Given the description of an element on the screen output the (x, y) to click on. 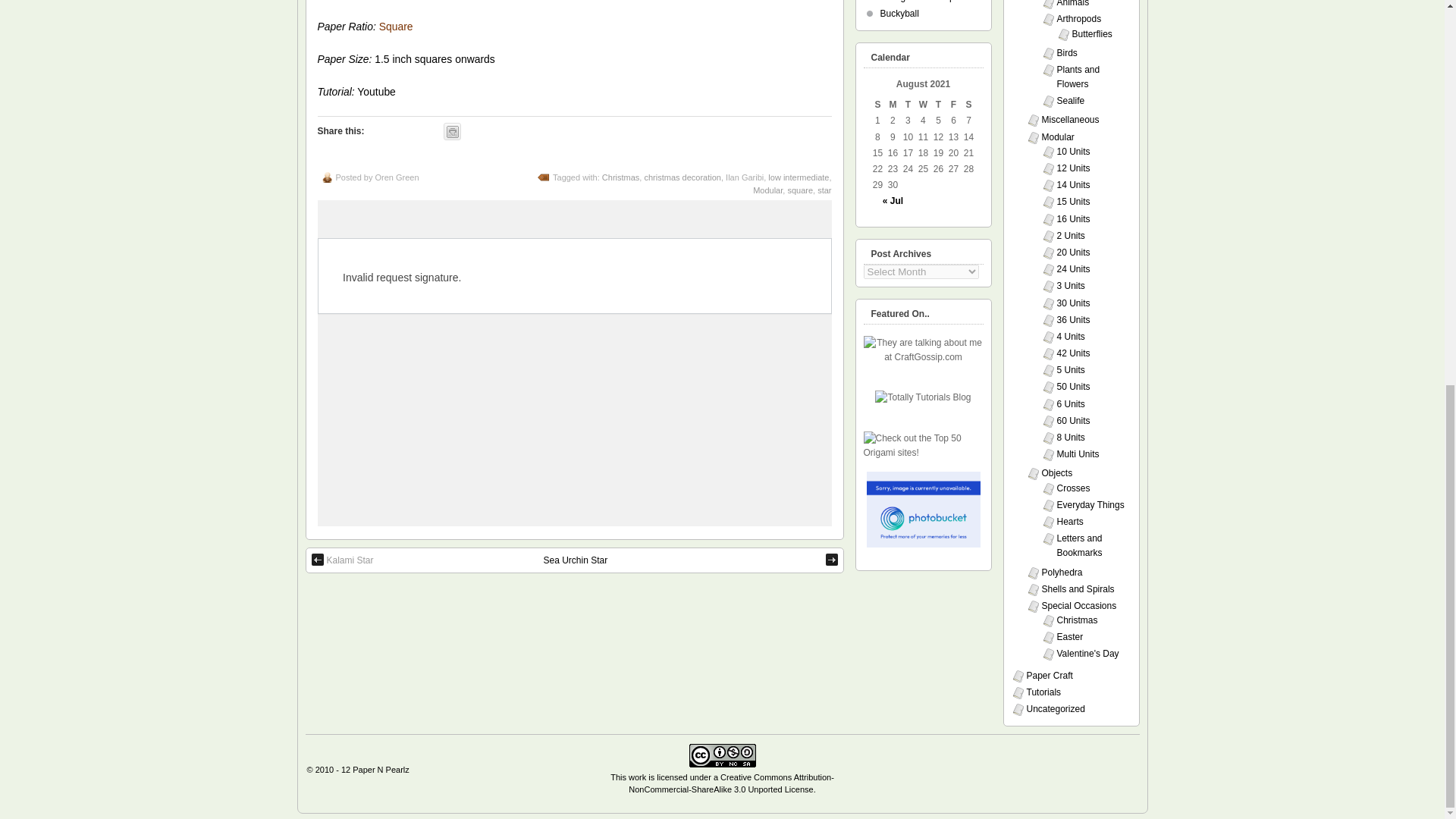
Buckyball (898, 13)
christmas decoration (681, 176)
Triangles from Squares (926, 1)
Modular (767, 189)
Square (395, 26)
square (799, 189)
Click to print (452, 131)
Christmas (621, 176)
low intermediate (798, 176)
star (823, 189)
